Given the description of an element on the screen output the (x, y) to click on. 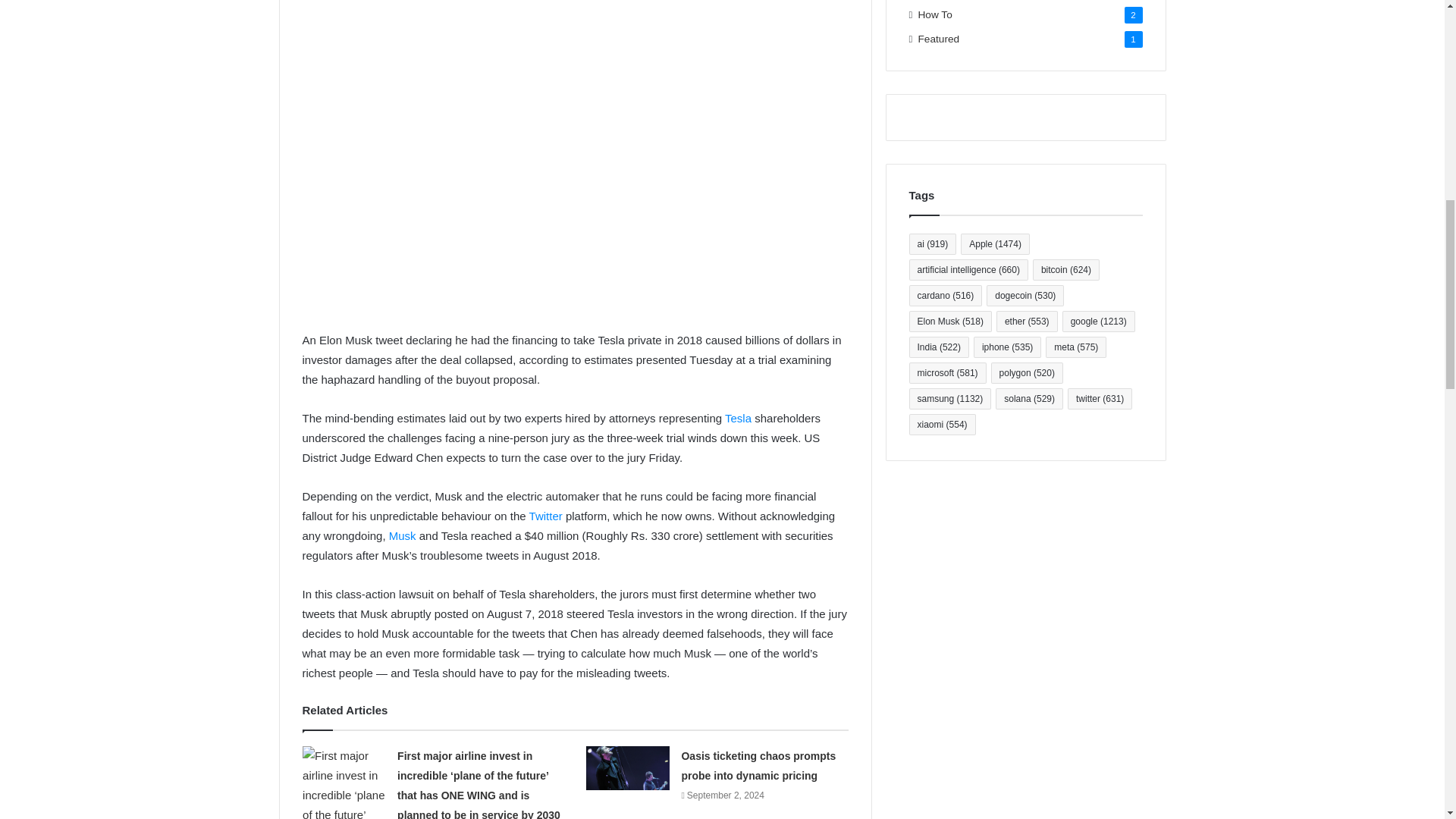
Twitter (545, 515)
Advertisement (574, 199)
Oasis ticketing chaos prompts probe into dynamic pricing (758, 766)
Tesla (738, 418)
Musk (402, 535)
